Given the description of an element on the screen output the (x, y) to click on. 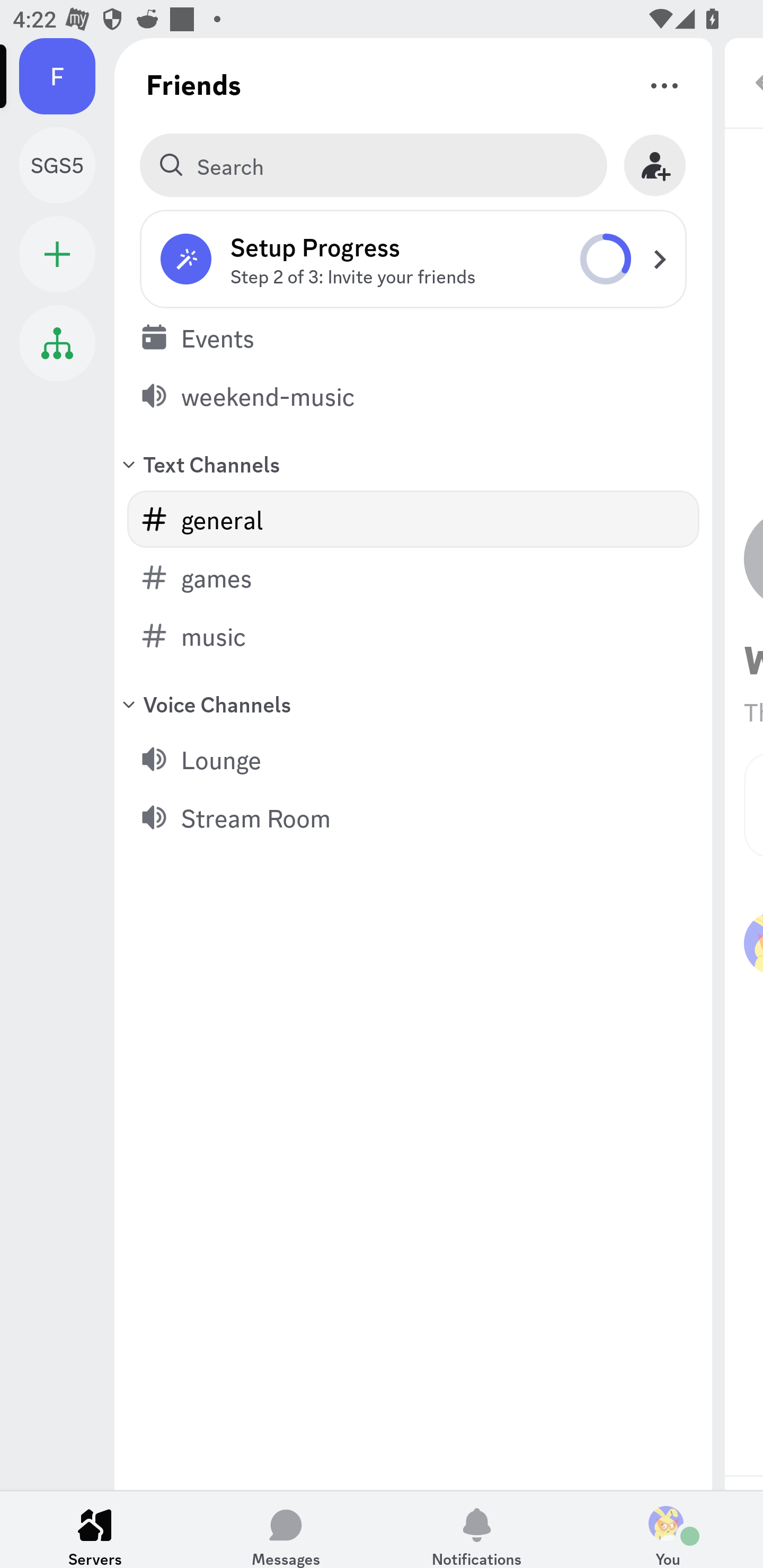
  Friends F (66, 75)
Friends (193, 83)
  Study Group Sunday 5PM SGS5 (66, 165)
Search (373, 165)
Invite (654, 165)
Add a Server (57, 253)
Student Hub (57, 343)
Events (413, 336)
Text Channels (412, 462)
general (text channel) general (413, 518)
games (text channel) games (413, 576)
music (text channel) music (413, 635)
Voice Channels (412, 702)
Lounge (voice channel), 0 users Lounge (413, 758)
Stream Room (voice channel), 0 users Stream Room (413, 817)
Servers (95, 1529)
Messages (285, 1529)
Notifications (476, 1529)
You (667, 1529)
